Given the description of an element on the screen output the (x, y) to click on. 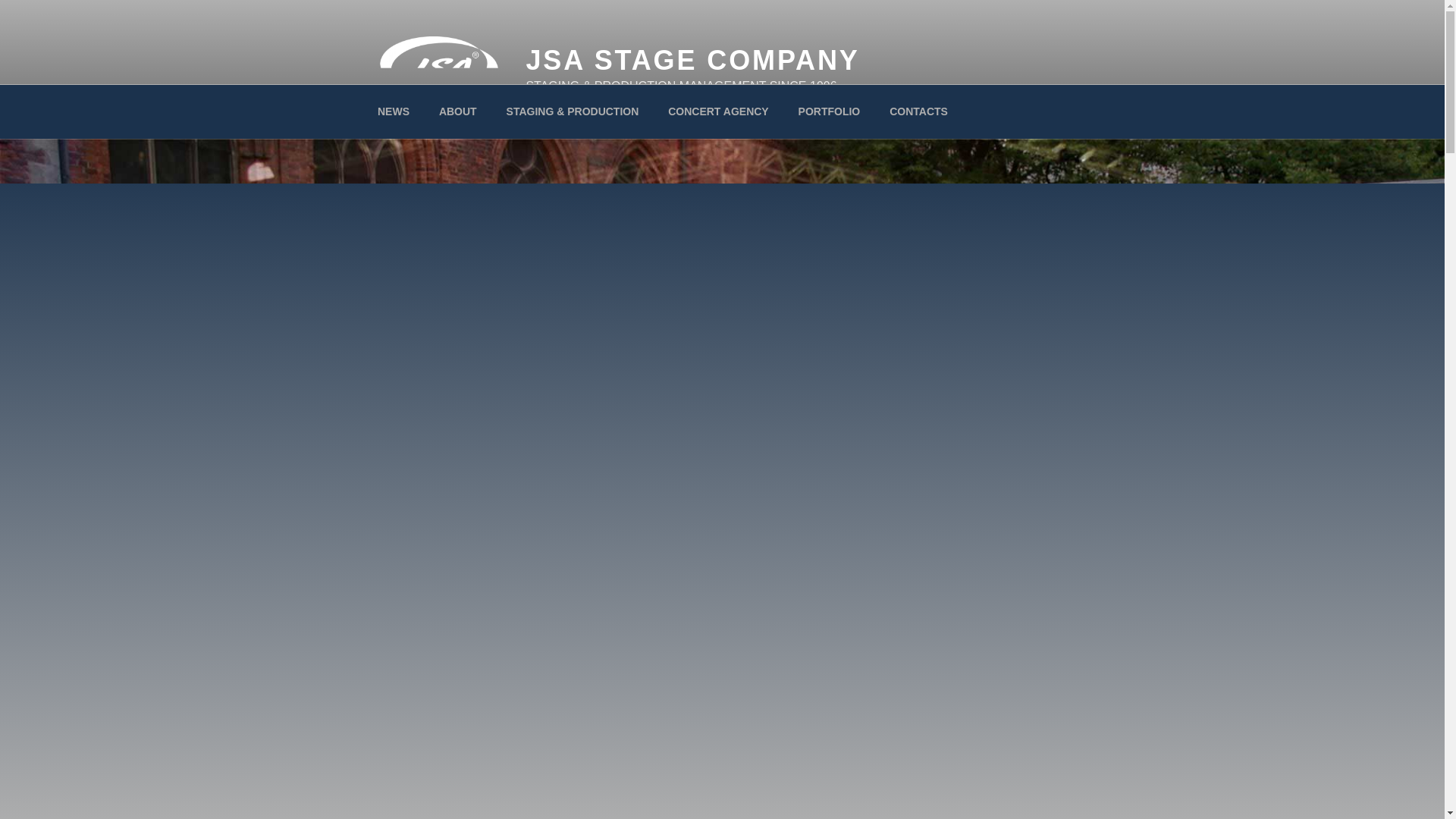
CONCERT AGENCY (719, 110)
JSA STAGE COMPANY (692, 60)
NEWS (393, 110)
CONTACTS (918, 110)
PORTFOLIO (828, 110)
ABOUT (457, 110)
